Given the description of an element on the screen output the (x, y) to click on. 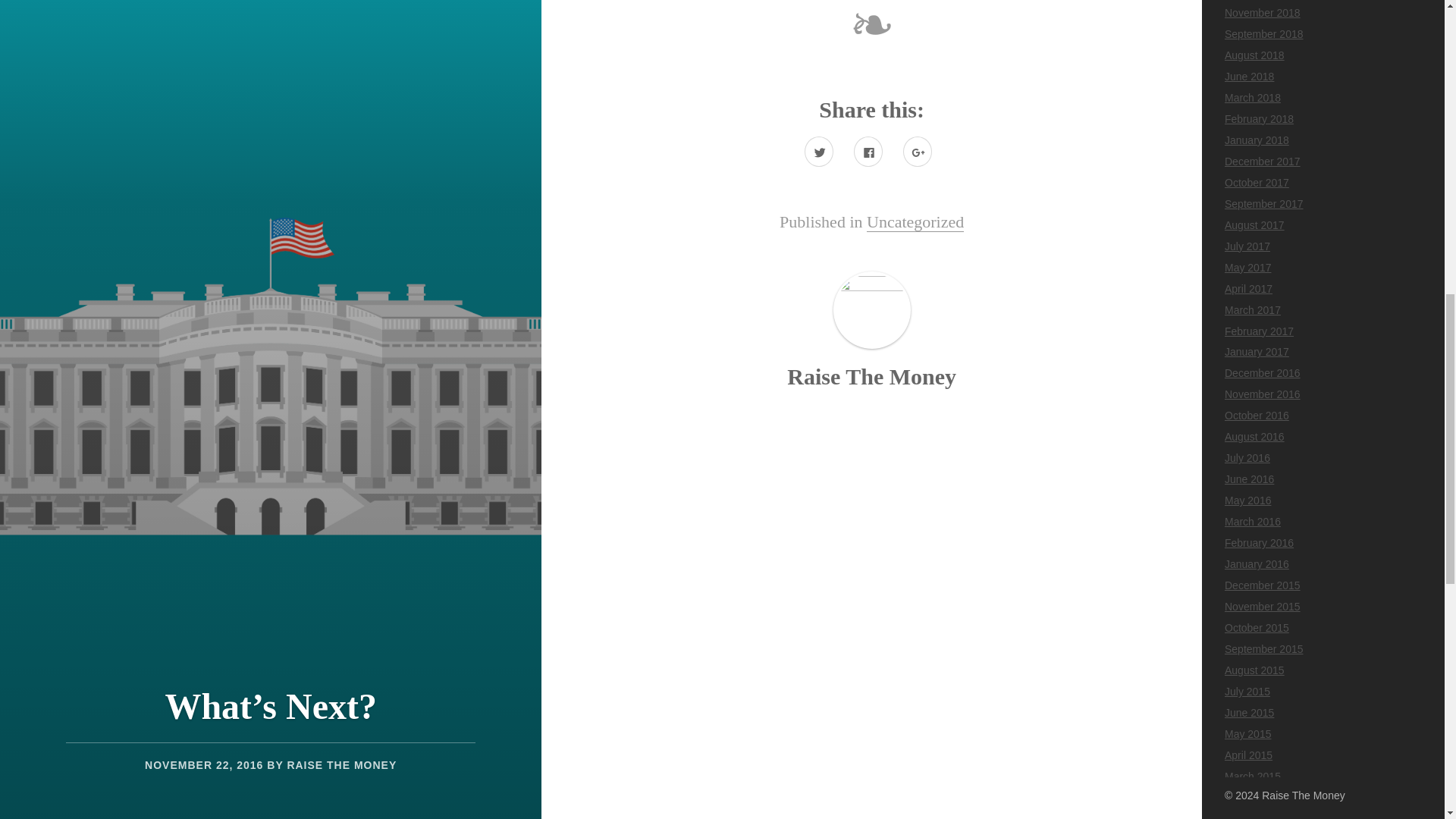
August 2018 (1254, 55)
January 2018 (1256, 140)
October 2017 (1256, 182)
March 2018 (1252, 97)
Click to share on Twitter (818, 151)
February 2018 (1259, 119)
September 2018 (1263, 33)
Click to share on Facebook (867, 151)
September 2017 (1263, 203)
June 2018 (1249, 76)
Posts by Raise The Money (871, 376)
November 2018 (1262, 12)
December 2017 (1262, 161)
